Given the description of an element on the screen output the (x, y) to click on. 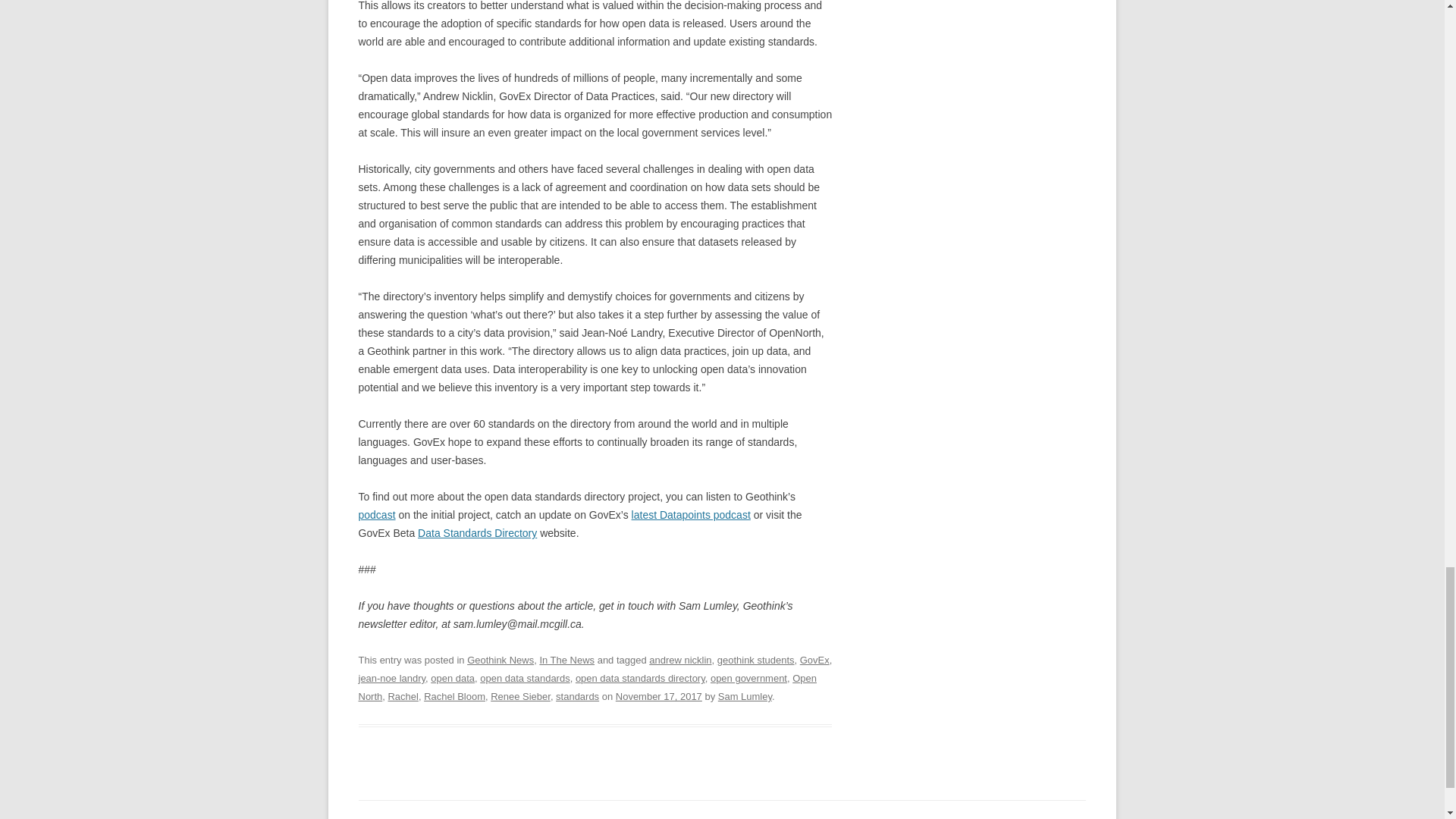
View all posts by Sam Lumley (744, 696)
1:17 AM (658, 696)
